Given the description of an element on the screen output the (x, y) to click on. 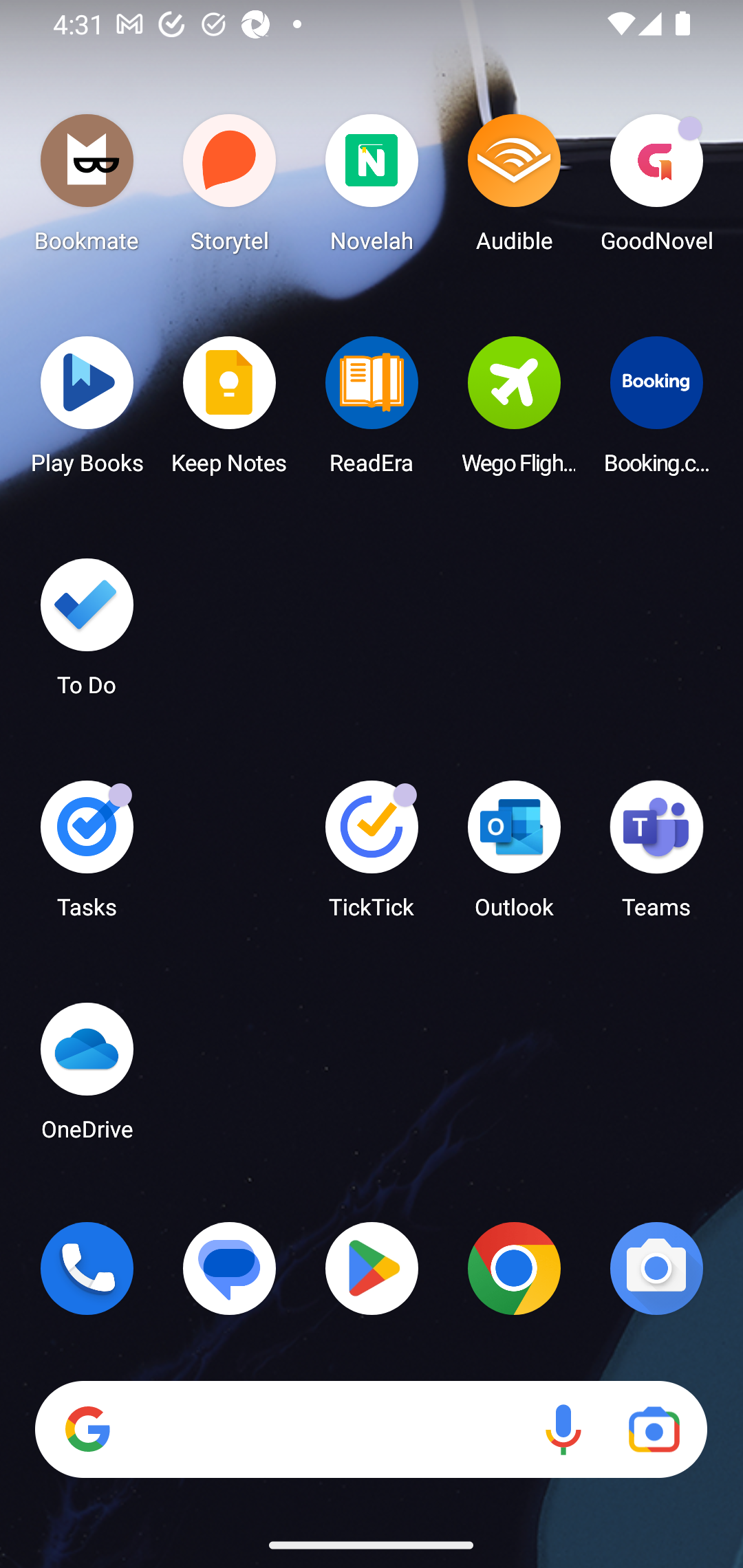
Bookmate (86, 188)
Storytel (229, 188)
Novelah (371, 188)
Audible (513, 188)
GoodNovel GoodNovel has 1 notification (656, 188)
Play Books (86, 410)
Keep Notes (229, 410)
ReadEra (371, 410)
Wego Flights & Hotels (513, 410)
Booking.com (656, 410)
To Do (86, 633)
Tasks Tasks has 1 notification (86, 854)
TickTick TickTick has 3 notifications (371, 854)
Outlook (513, 854)
Teams (656, 854)
OneDrive (86, 1076)
Phone (86, 1268)
Messages (229, 1268)
Play Store (371, 1268)
Chrome (513, 1268)
Camera (656, 1268)
Search Voice search Google Lens (370, 1429)
Voice search (562, 1429)
Google Lens (653, 1429)
